Given the description of an element on the screen output the (x, y) to click on. 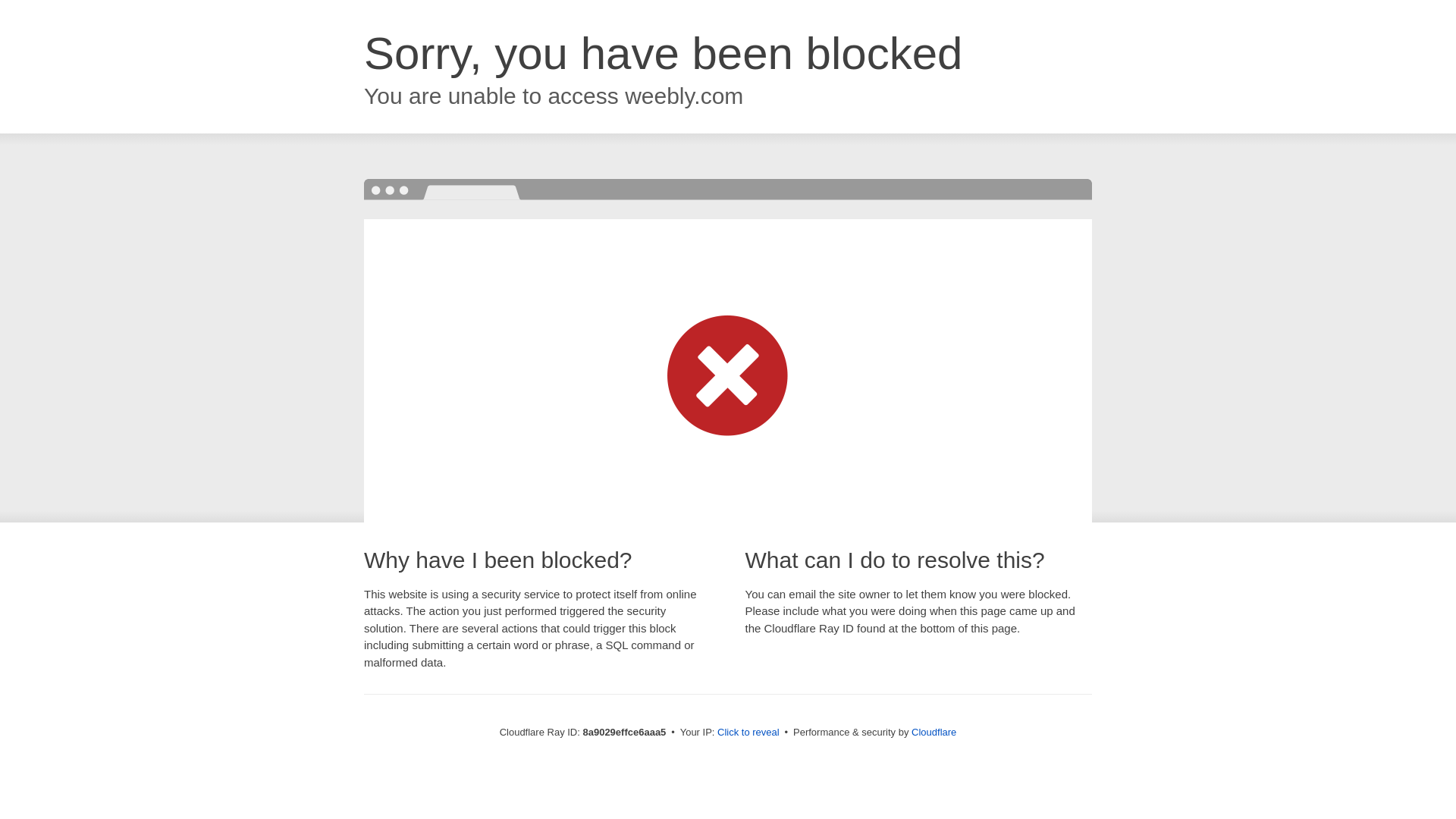
Cloudflare (933, 731)
Click to reveal (747, 732)
